Given the description of an element on the screen output the (x, y) to click on. 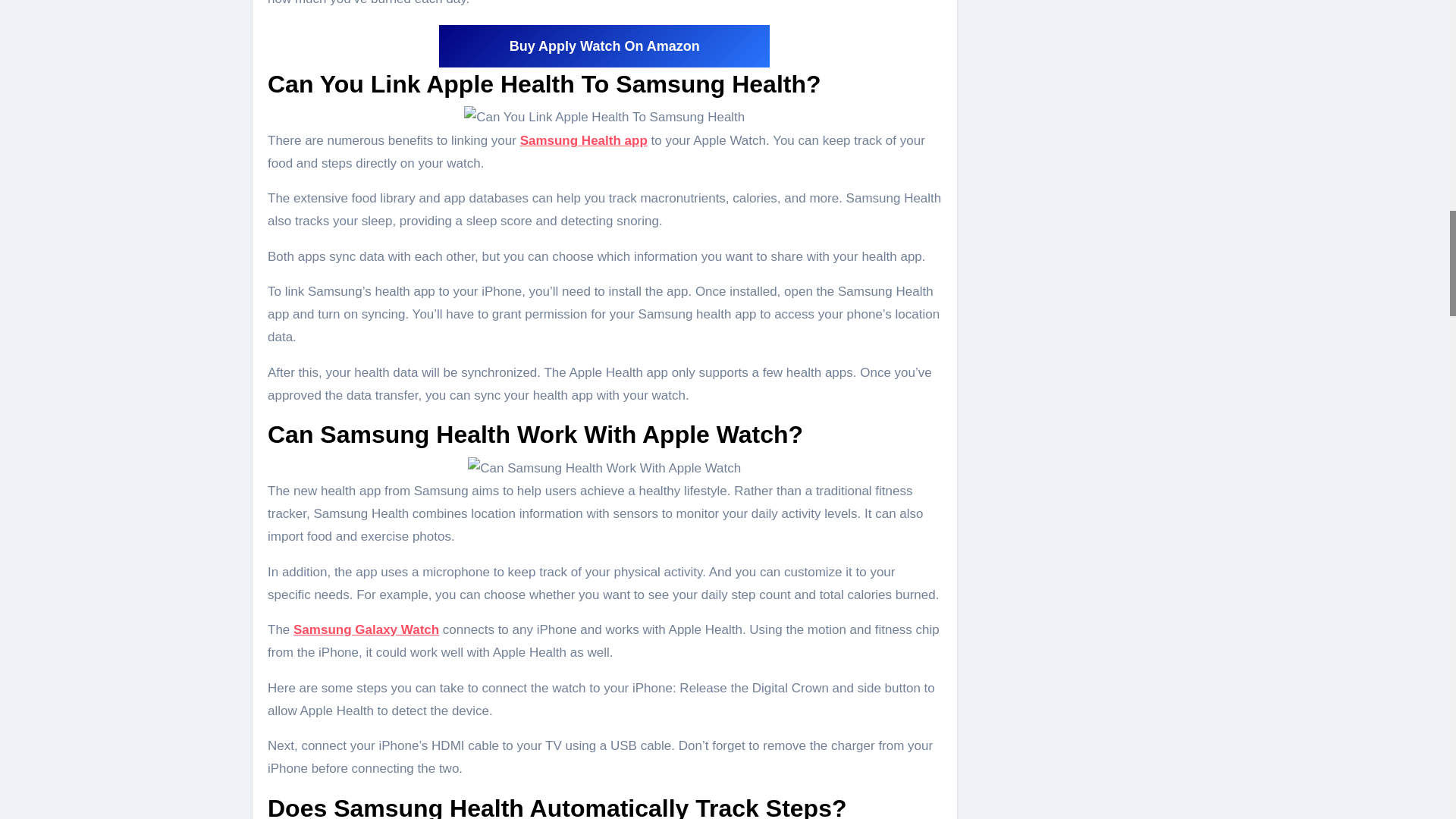
Samsung Health app (583, 140)
Samsung Galaxy Watch (366, 629)
Buy Apply Watch On Amazon (604, 45)
